Given the description of an element on the screen output the (x, y) to click on. 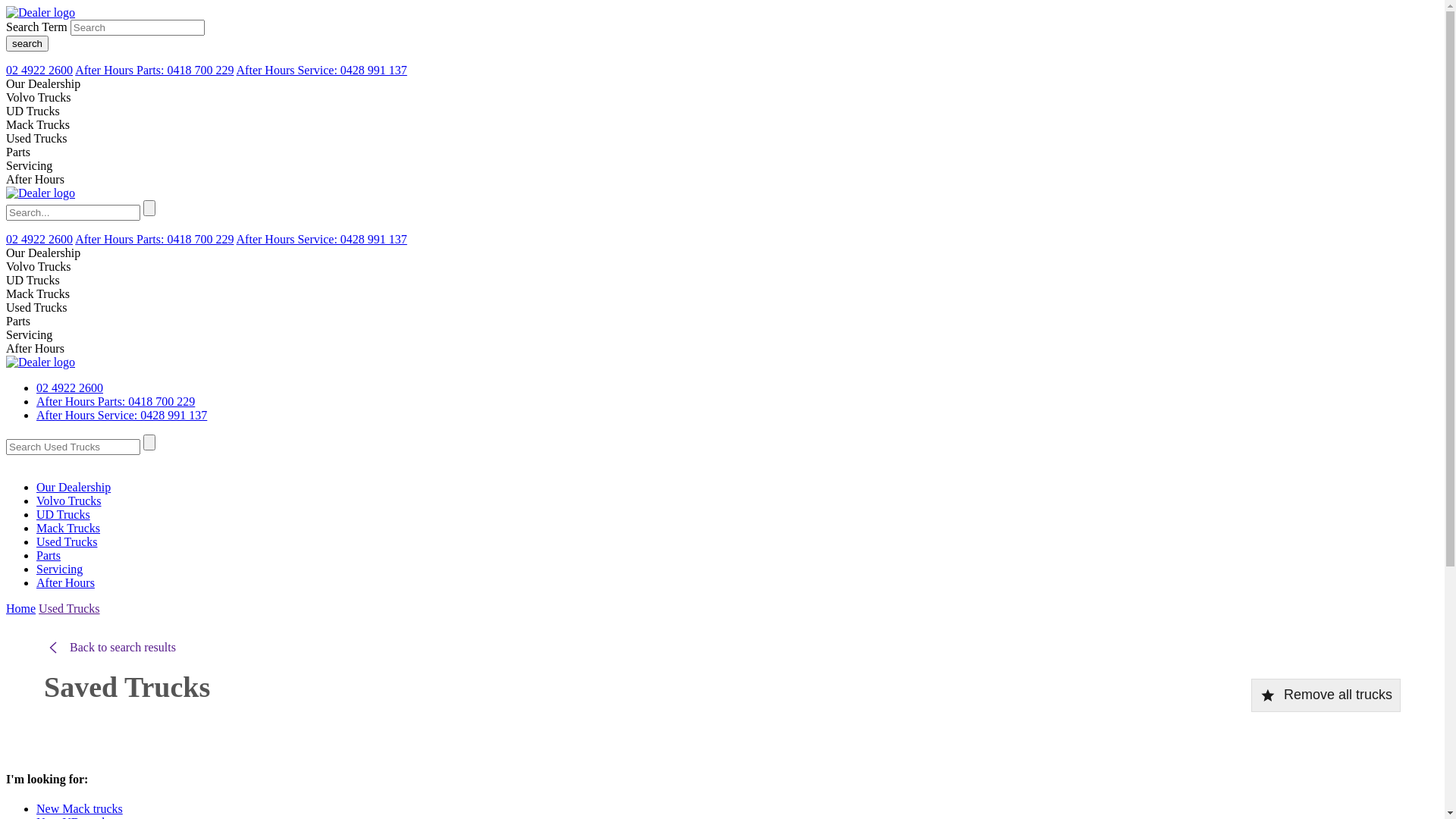
New Mack trucks Element type: text (79, 808)
Servicing Element type: text (29, 334)
UD Trucks Element type: text (32, 279)
Parts Element type: text (18, 320)
02 4922 2600 Element type: text (39, 238)
After Hours Service: 0428 991 137 Element type: text (121, 414)
Used Trucks Element type: text (66, 541)
Volvo Trucks Element type: text (38, 97)
After Hours Parts: 0418 700 229 Element type: text (154, 238)
Dealer logo Element type: hover (40, 193)
Dealer logo Element type: hover (40, 12)
Used Trucks Element type: text (36, 137)
Our Dealership Element type: text (73, 486)
Used Trucks Element type: text (68, 608)
Mack Trucks Element type: text (37, 293)
After Hours Parts: 0418 700 229 Element type: text (154, 69)
UD Trucks Element type: text (63, 514)
After Hours Element type: text (35, 348)
Servicing Element type: text (59, 568)
Parts Element type: text (48, 555)
After Hours Service: 0428 991 137 Element type: text (321, 238)
After Hours Service: 0428 991 137 Element type: text (321, 69)
02 4922 2600 Element type: text (69, 387)
UD Trucks Element type: text (32, 110)
Volvo Trucks Element type: text (38, 266)
Parts Element type: text (18, 151)
Remove all trucks Element type: text (1325, 695)
Servicing Element type: text (29, 165)
After Hours Element type: text (35, 178)
Dealer logo Element type: hover (40, 362)
Volvo Trucks Element type: text (68, 500)
After Hours Parts: 0418 700 229 Element type: text (115, 401)
Home Element type: text (20, 608)
Our Dealership Element type: text (43, 252)
Our Dealership Element type: text (43, 83)
After Hours Element type: text (65, 582)
Mack Trucks Element type: text (68, 527)
search Element type: text (27, 43)
Used Trucks Element type: text (36, 307)
Mack Trucks Element type: text (37, 124)
02 4922 2600 Element type: text (39, 69)
Back to search results Element type: text (109, 647)
